Given the description of an element on the screen output the (x, y) to click on. 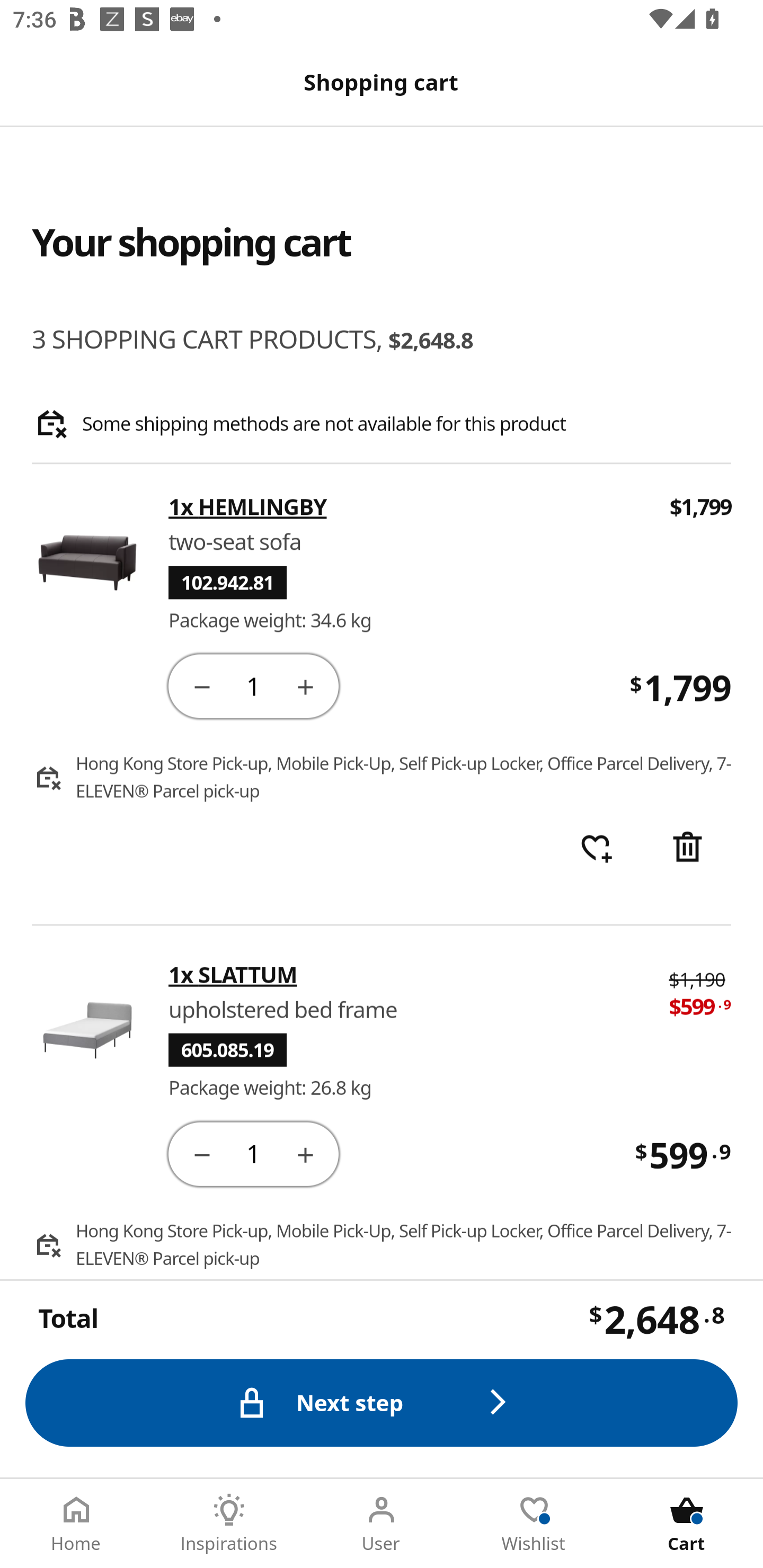
1x  HEMLINGBY 1x  HEMLINGBY (406, 507)
1 (253, 685)
 (201, 685)
 (305, 685)
  (595, 848)
 (686, 848)
1x  SLATTUM 1x  SLATTUM (405, 974)
1 (253, 1153)
 (201, 1153)
 (305, 1153)
Home
Tab 1 of 5 (76, 1522)
Inspirations
Tab 2 of 5 (228, 1522)
User
Tab 3 of 5 (381, 1522)
Wishlist
Tab 4 of 5 (533, 1522)
Cart
Tab 5 of 5 (686, 1522)
